Given the description of an element on the screen output the (x, y) to click on. 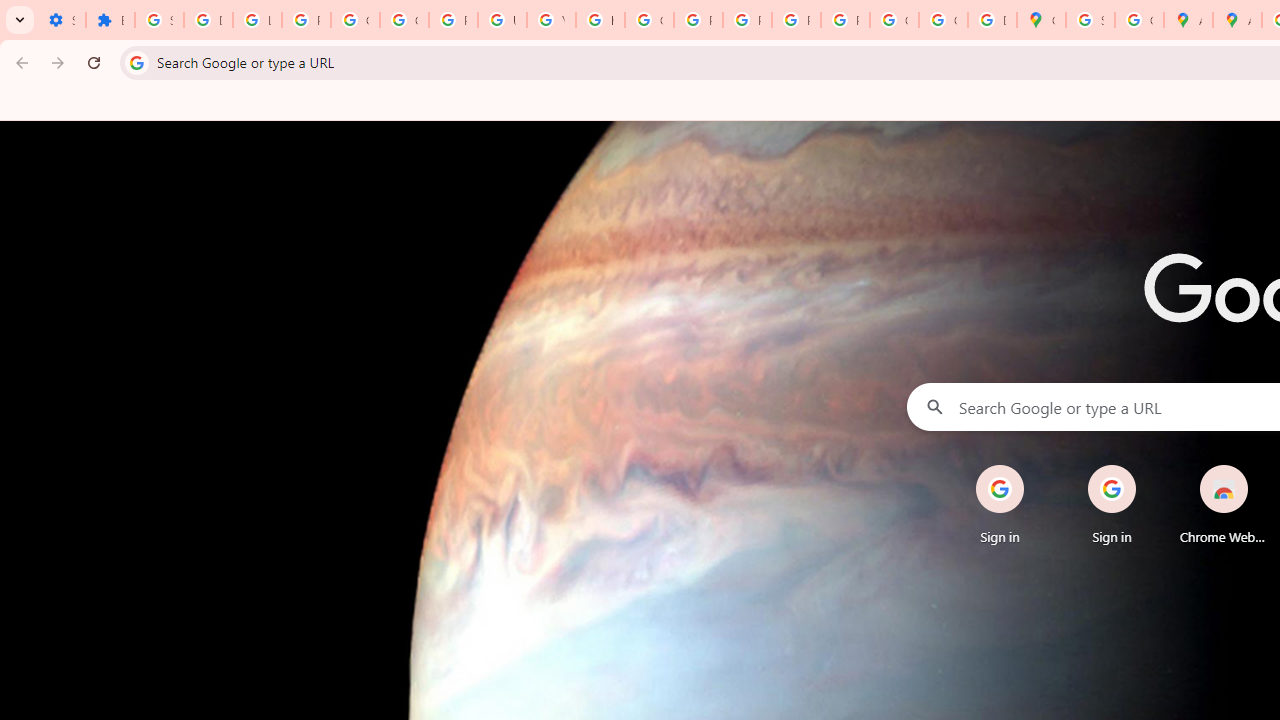
Remove (1263, 466)
Google Account Help (355, 20)
Sign in - Google Accounts (159, 20)
Google Maps (1041, 20)
https://scholar.google.com/ (600, 20)
YouTube (551, 20)
